Given the description of an element on the screen output the (x, y) to click on. 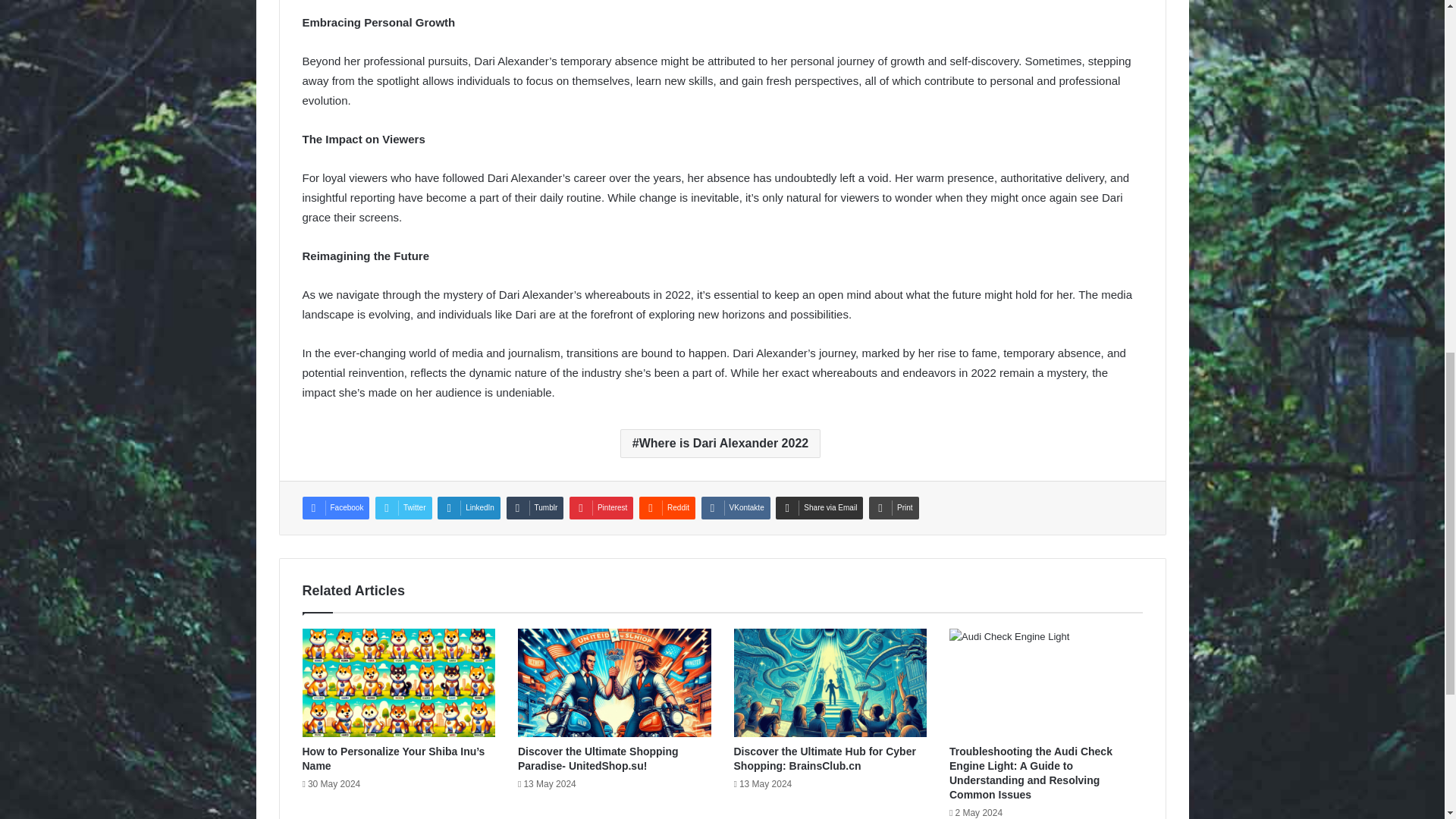
Discover the Ultimate Shopping Paradise- UnitedShop.su! (598, 758)
Twitter (402, 507)
Share via Email (819, 507)
Print (893, 507)
VKontakte (735, 507)
Tumblr (535, 507)
Pinterest (601, 507)
Share via Email (819, 507)
LinkedIn (469, 507)
Pinterest (601, 507)
